Given the description of an element on the screen output the (x, y) to click on. 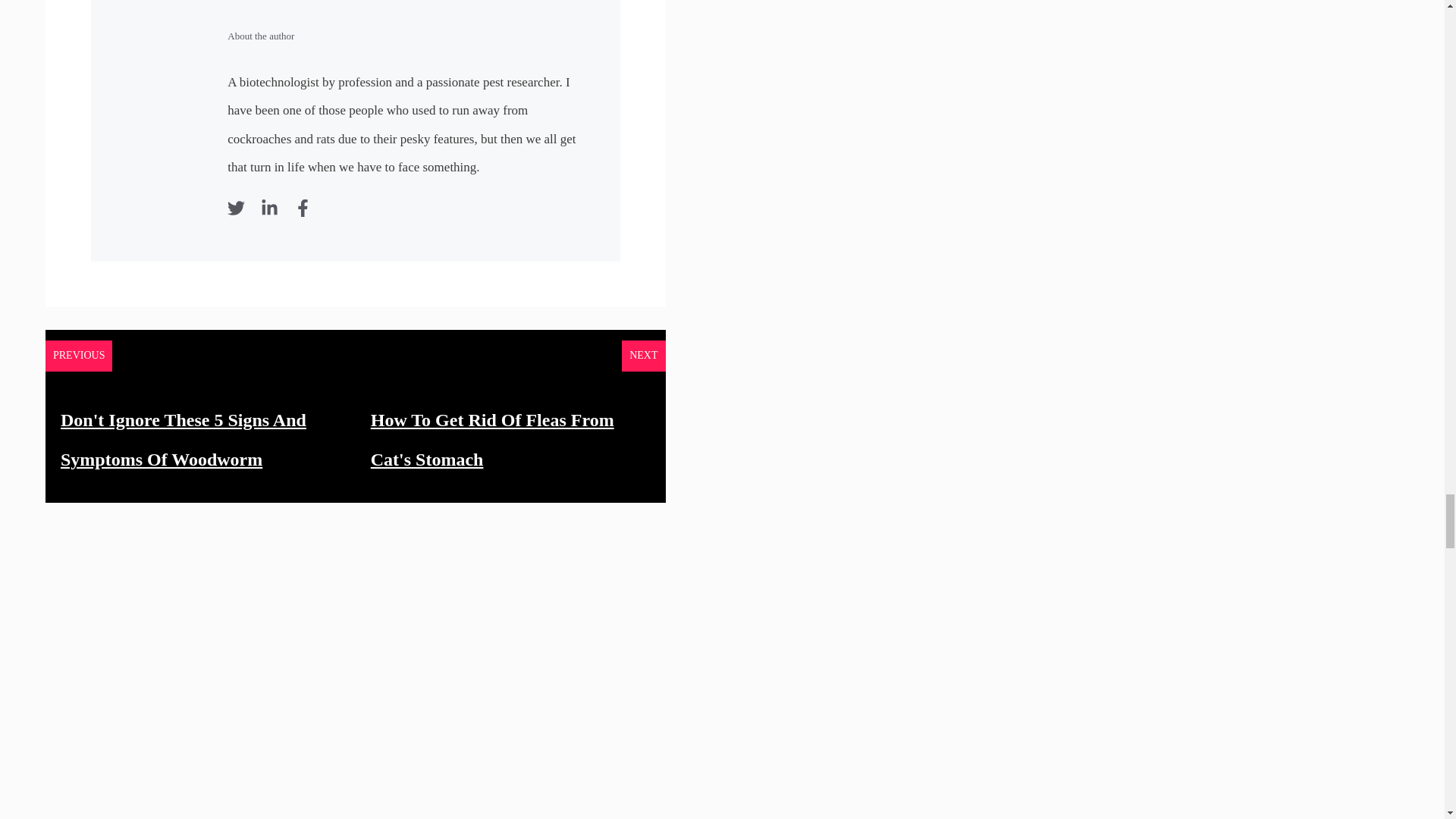
Don'T Ignore These 5 Signs And Symptoms Of Woodworm (183, 440)
How To Get Rid Of Fleas From Cat'S Stomach (492, 440)
